Given the description of an element on the screen output the (x, y) to click on. 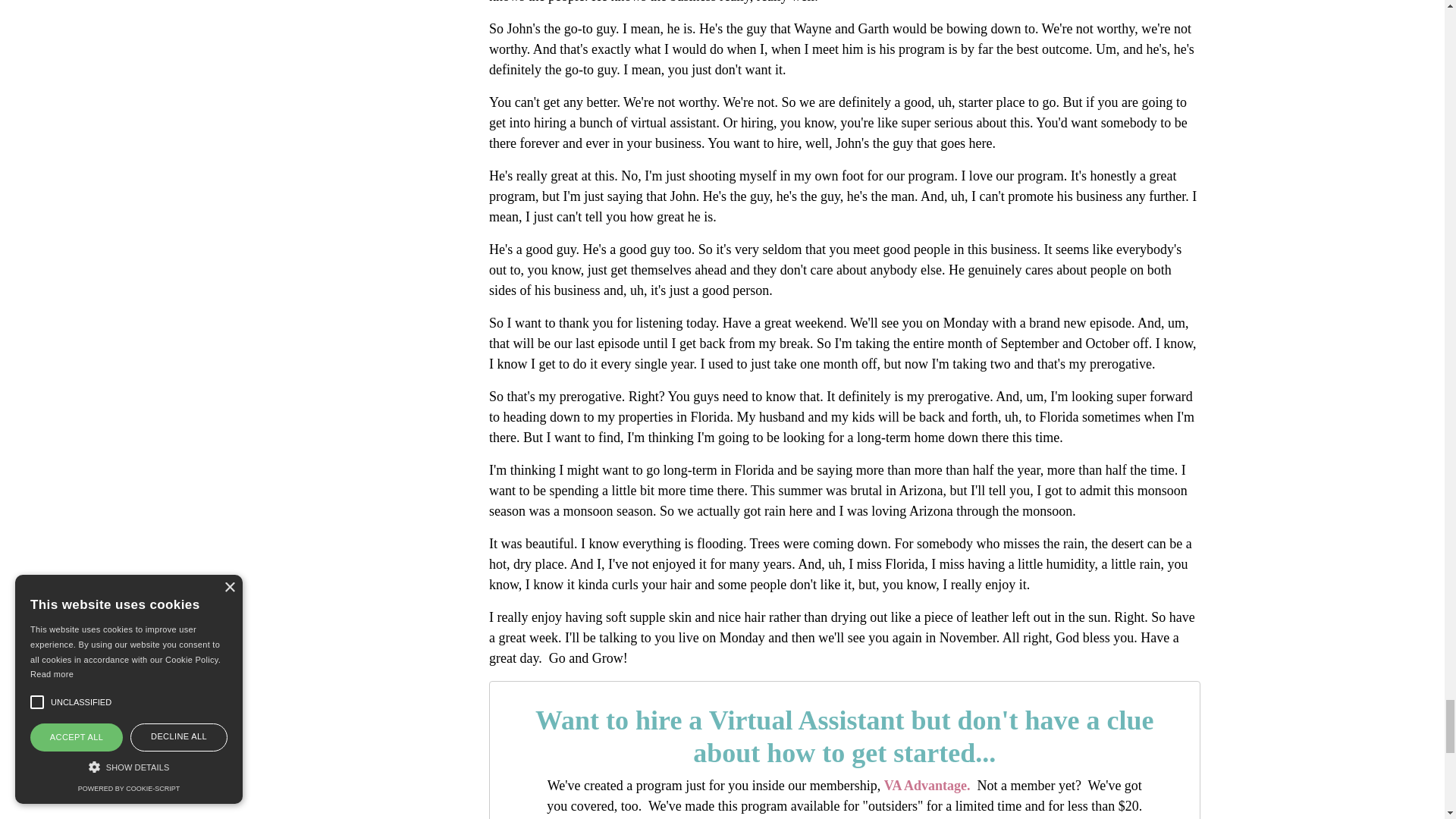
Go to the Store (924, 785)
VA Advantage (924, 785)
